Given the description of an element on the screen output the (x, y) to click on. 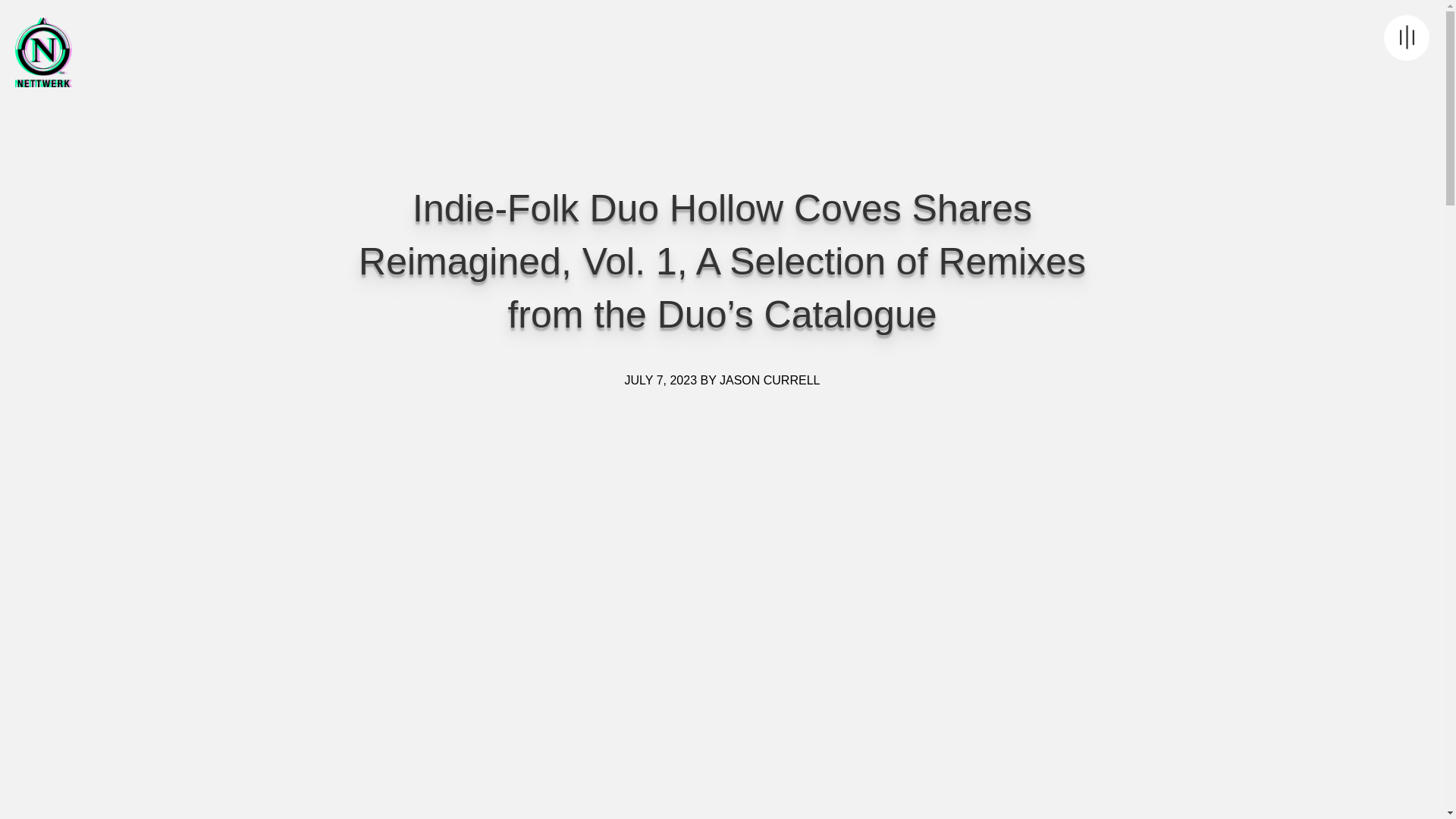
offcanv-menu-toggle-icon (1406, 37)
